Given the description of an element on the screen output the (x, y) to click on. 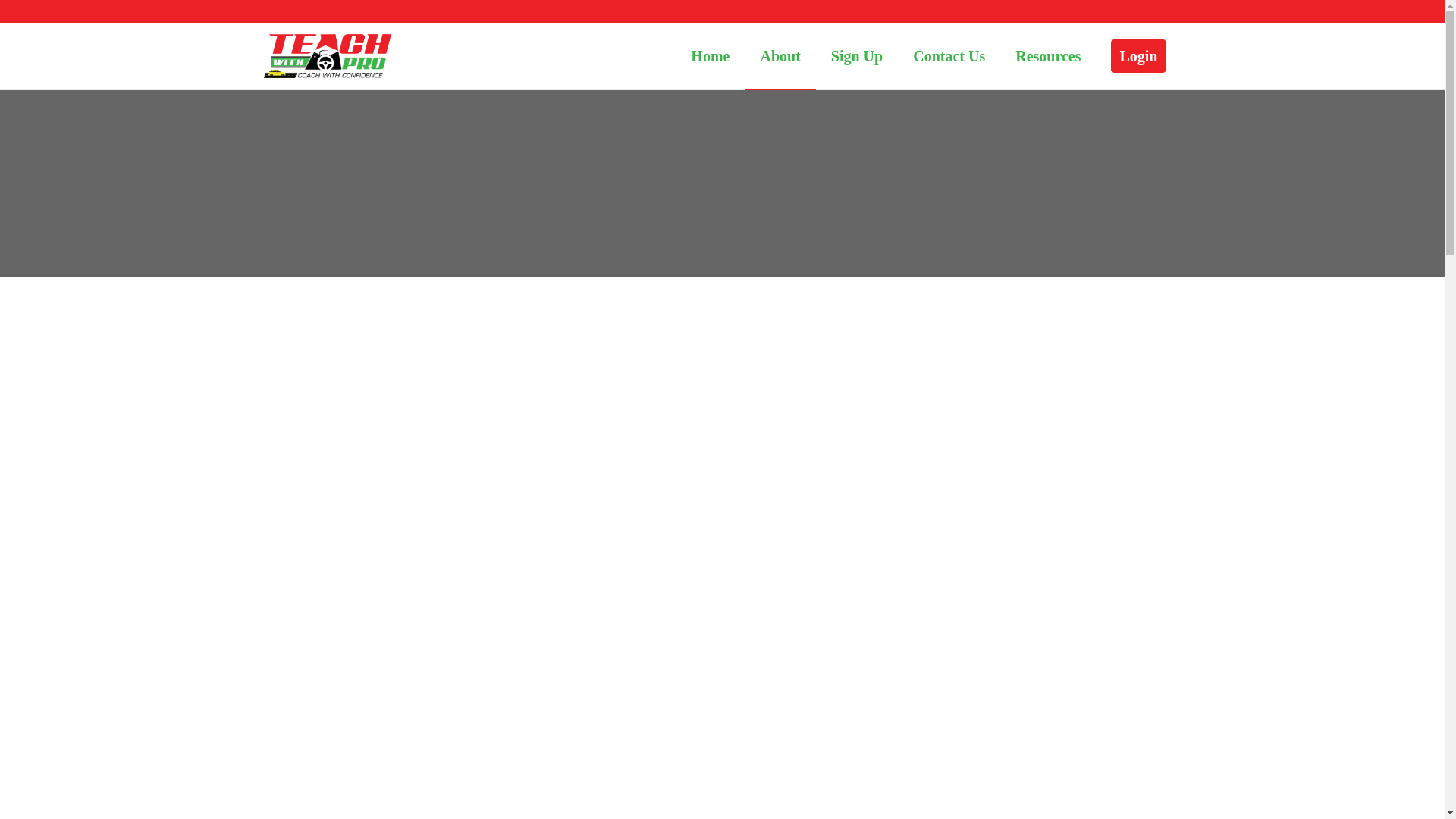
Contact Us (949, 55)
Login (1138, 55)
Home (709, 55)
About (779, 55)
Sign Up (856, 55)
Resources (1048, 55)
